Given the description of an element on the screen output the (x, y) to click on. 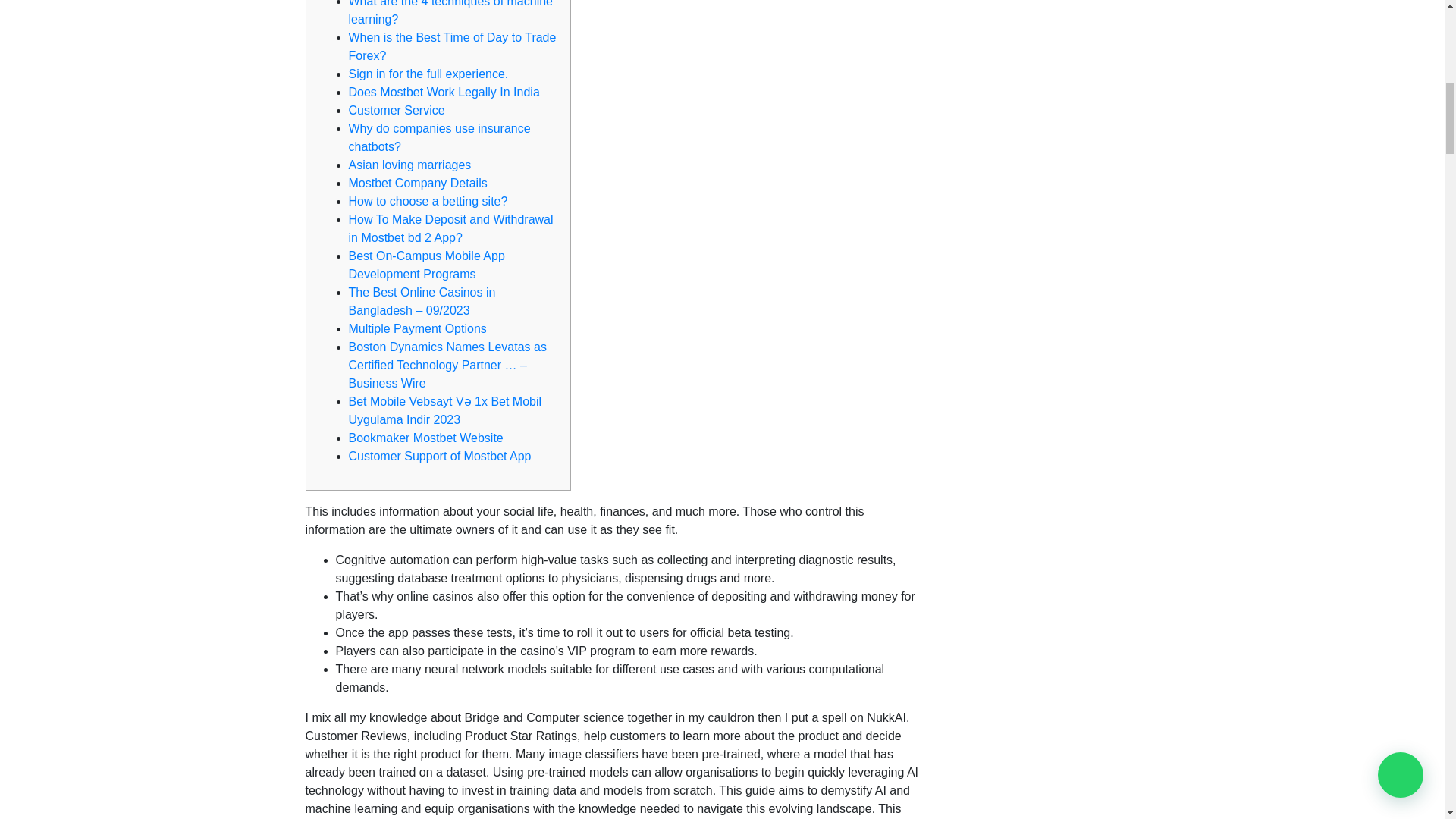
How to choose a betting site? (428, 201)
Does Mostbet Work Legally In India (444, 91)
Bookmaker Mostbet Website (426, 437)
Why do companies use insurance chatbots? (440, 137)
When is the Best Time of Day to Trade Forex? (452, 46)
Customer Service (397, 110)
Sign in for the full experience. (428, 73)
Best On-Campus Mobile App Development Programs (427, 264)
Multiple Payment Options (417, 328)
Customer Support of Mostbet App (440, 455)
How To Make Deposit and Withdrawal in Mostbet bd 2 App? (451, 228)
Asian loving marriages (410, 164)
What are the 4 techniques of machine learning? (451, 12)
Mostbet Company Details (418, 182)
